Given the description of an element on the screen output the (x, y) to click on. 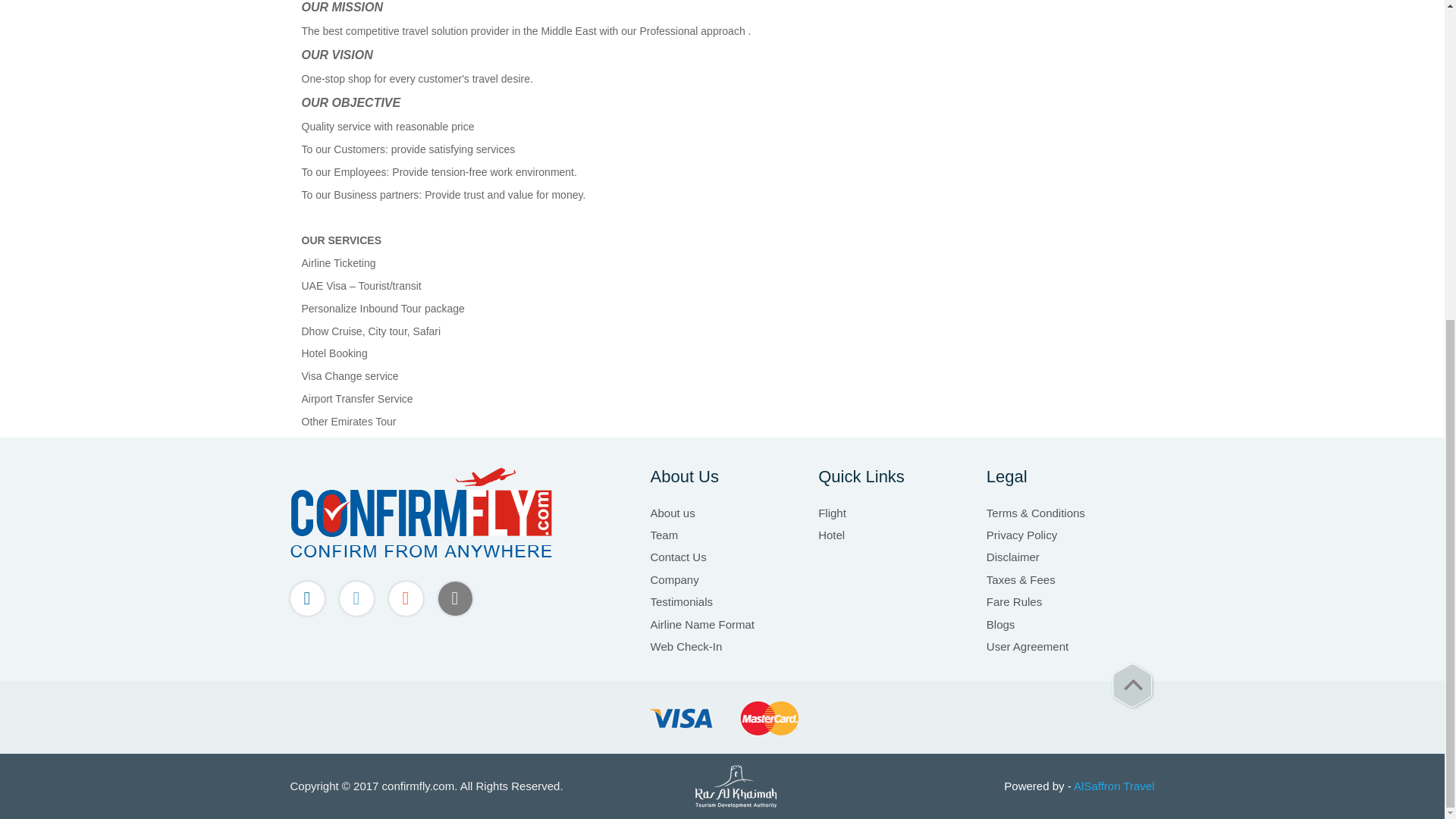
About us (734, 513)
